Given the description of an element on the screen output the (x, y) to click on. 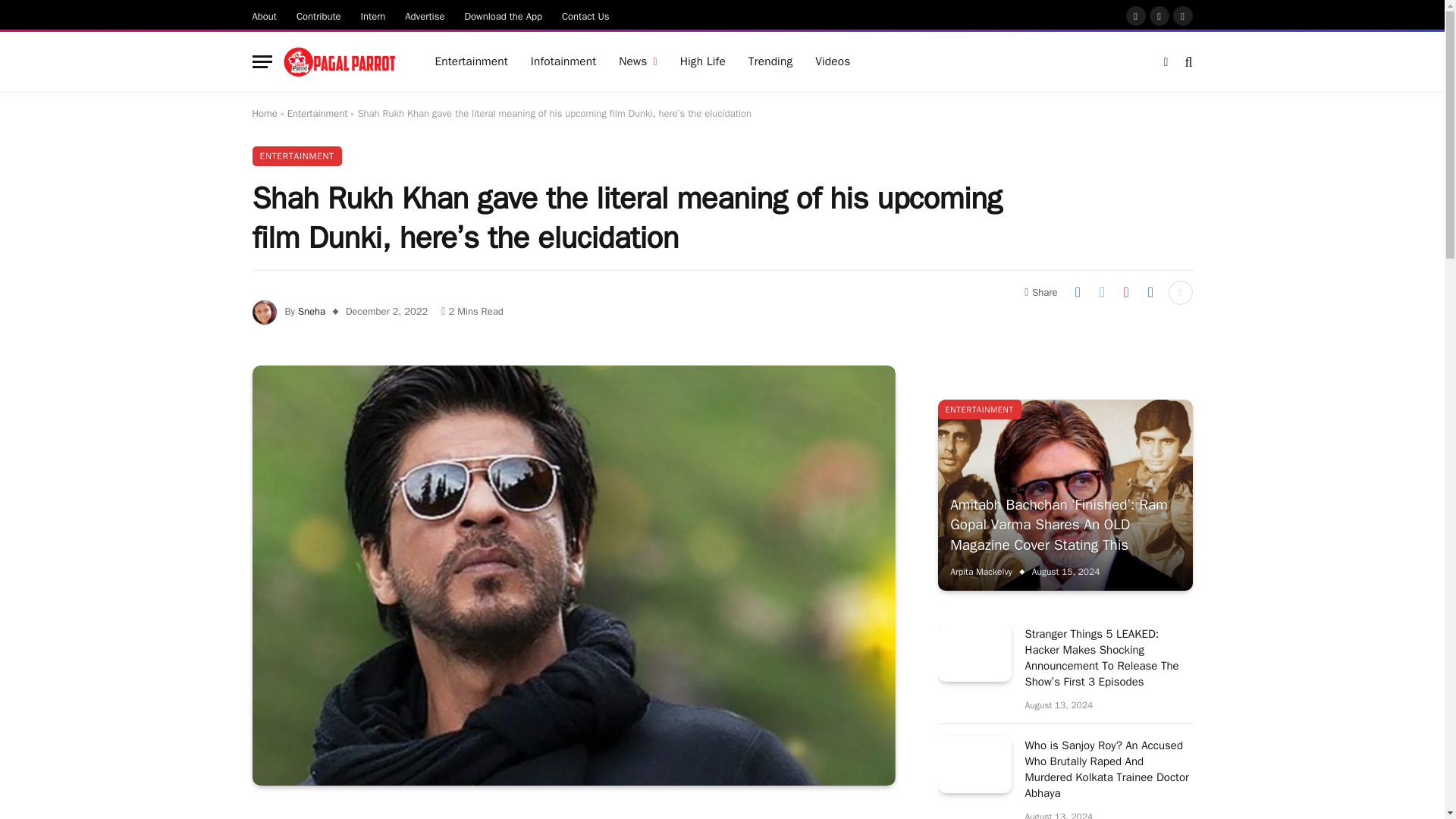
PagalParrot (340, 62)
Intern (373, 15)
Download the App (503, 15)
About (264, 15)
Contribute (318, 15)
Advertise (424, 15)
Contact Us (585, 15)
